Given the description of an element on the screen output the (x, y) to click on. 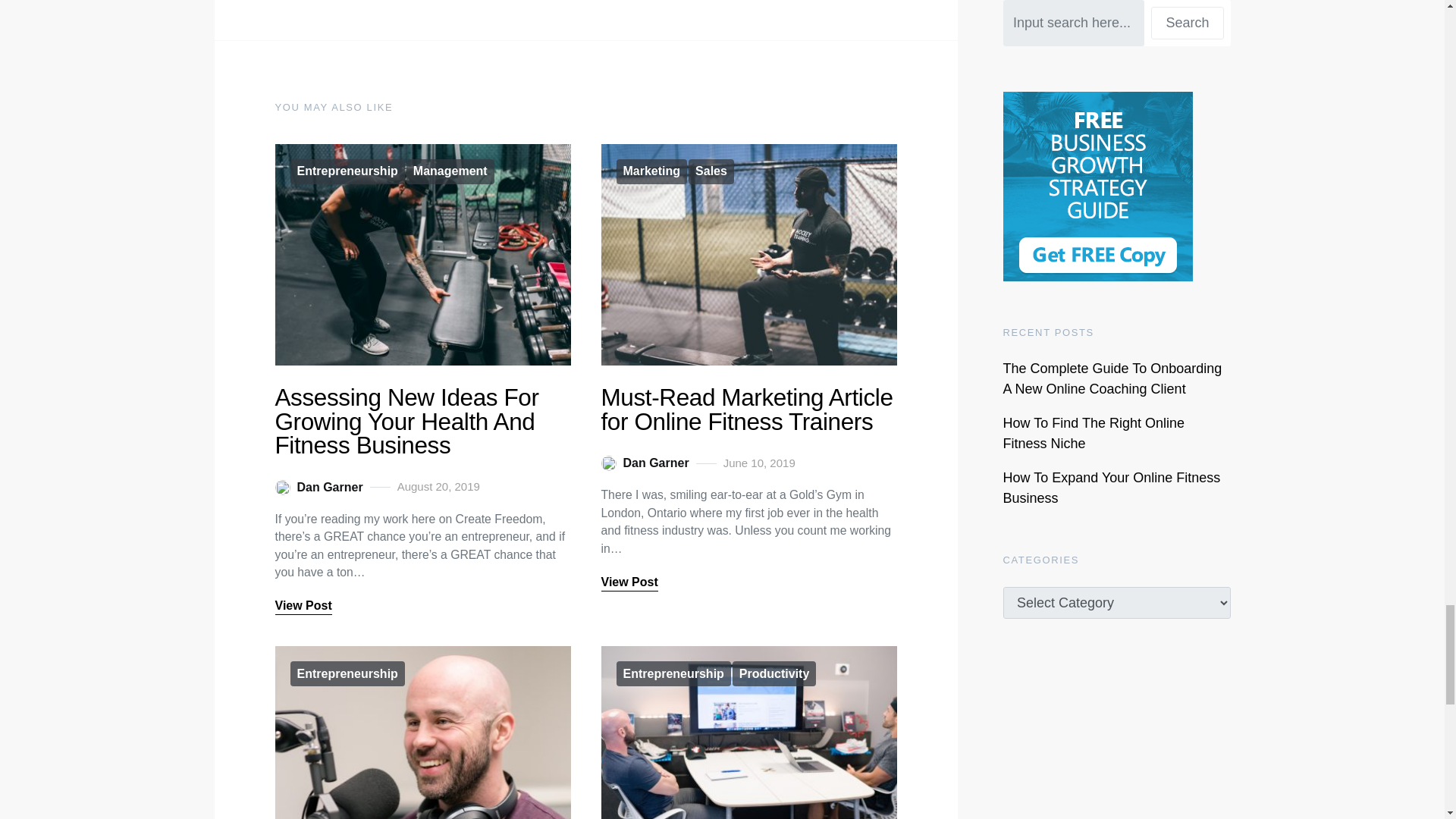
Entrepreneurship (672, 673)
Dan Garner (643, 463)
Must-Read Marketing Article for Online Fitness Trainers (745, 409)
View Post (303, 606)
Entrepreneurship (346, 673)
Marketing (651, 171)
View all posts by Dan Garner (643, 463)
View Post (628, 582)
Entrepreneurship (346, 171)
View all posts by Dan Garner (318, 486)
